Given the description of an element on the screen output the (x, y) to click on. 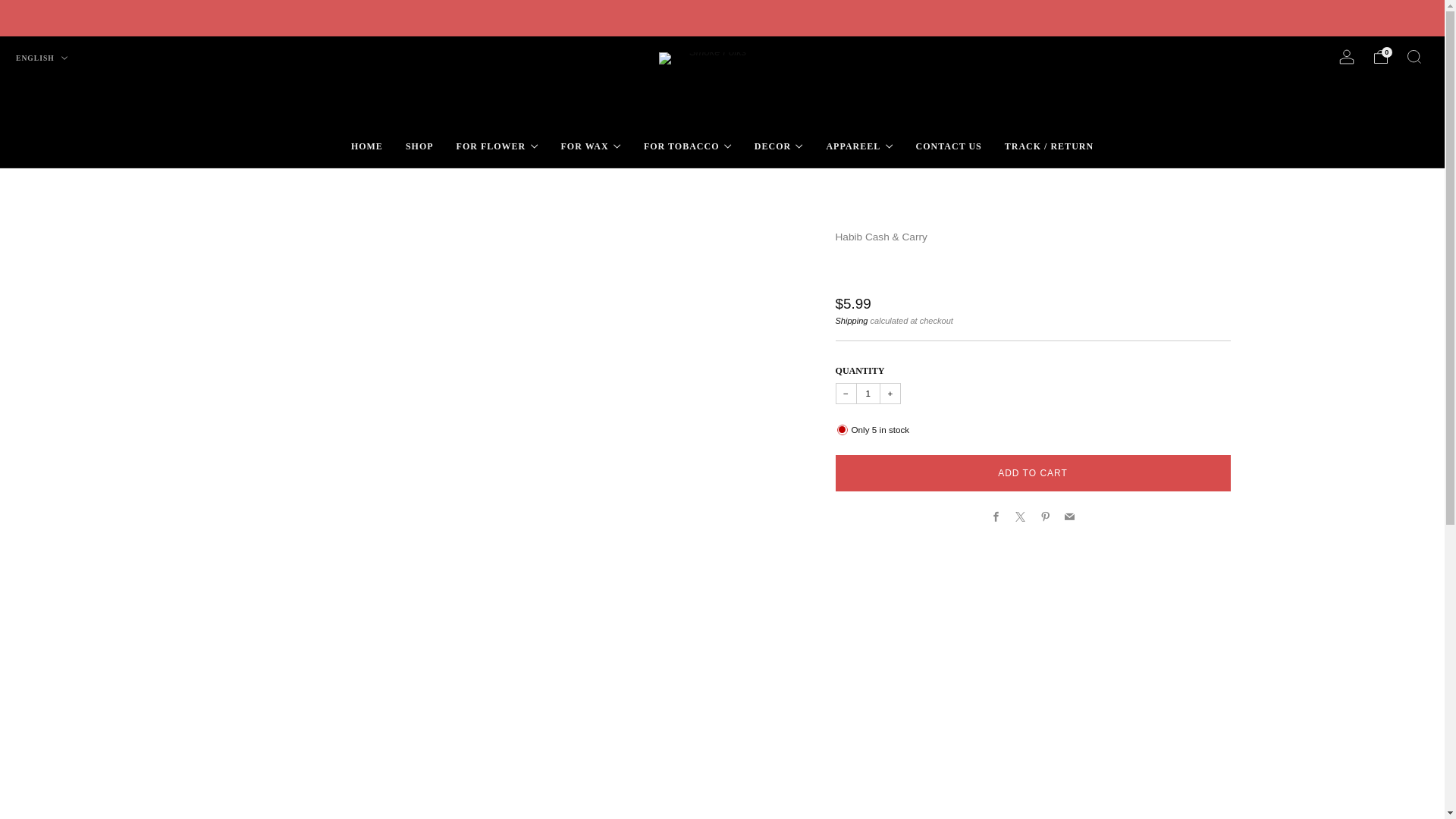
HOME (366, 146)
FOR WAX (590, 146)
SHOP (419, 146)
FOR FLOWER (497, 146)
1 (868, 393)
